Given the description of an element on the screen output the (x, y) to click on. 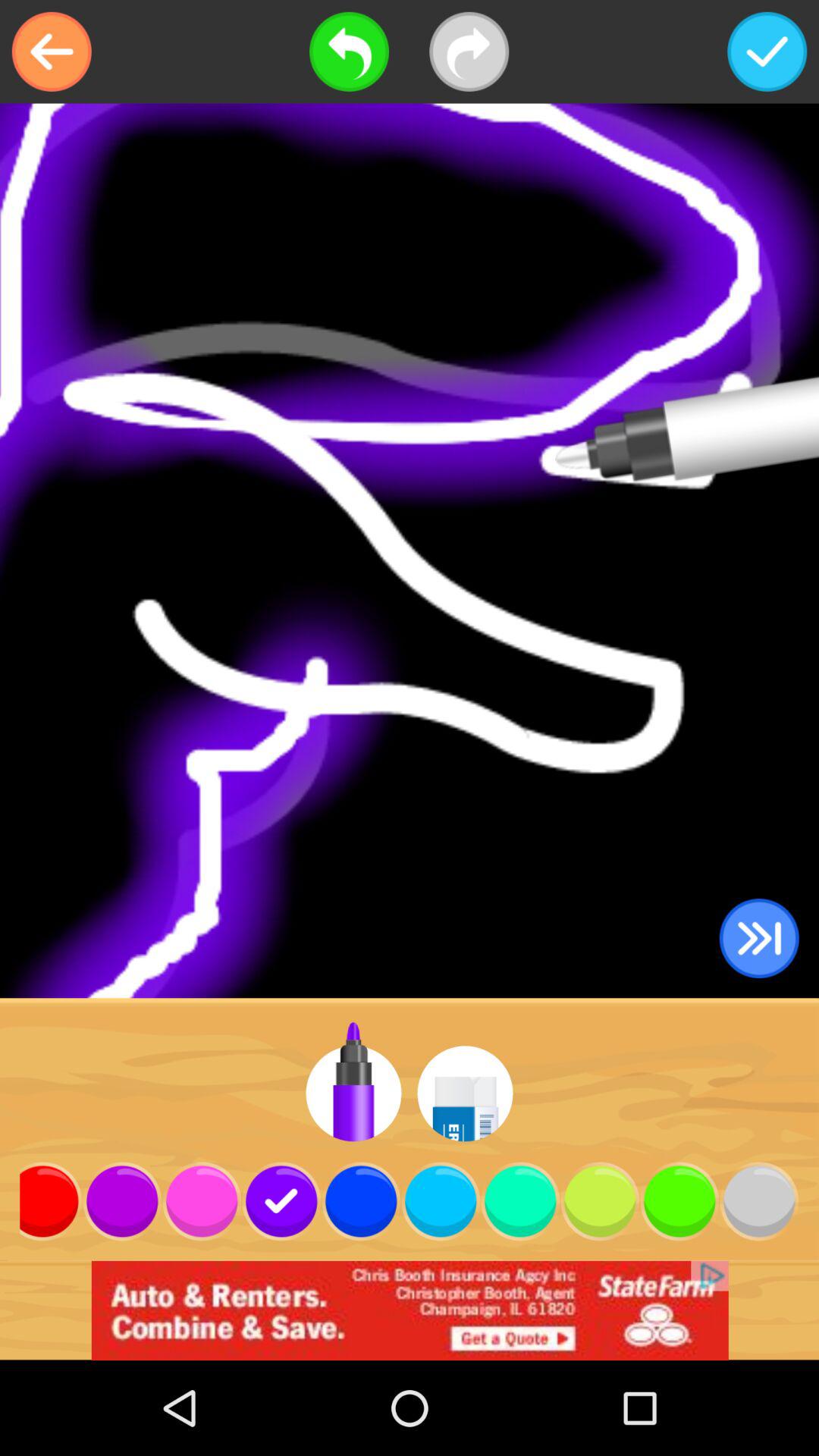
web add (409, 1310)
